Given the description of an element on the screen output the (x, y) to click on. 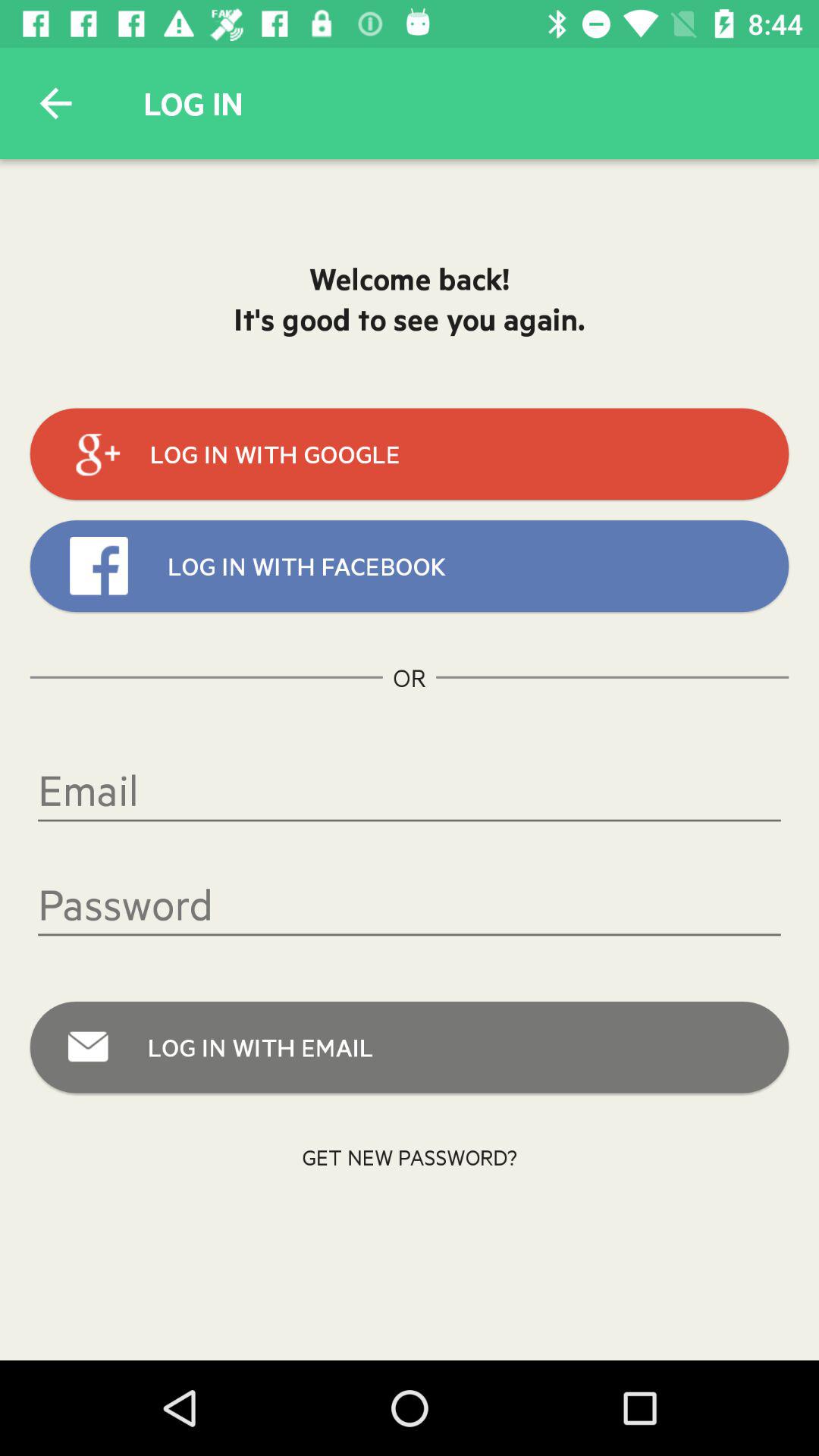
jump until the get new password? (409, 1156)
